Given the description of an element on the screen output the (x, y) to click on. 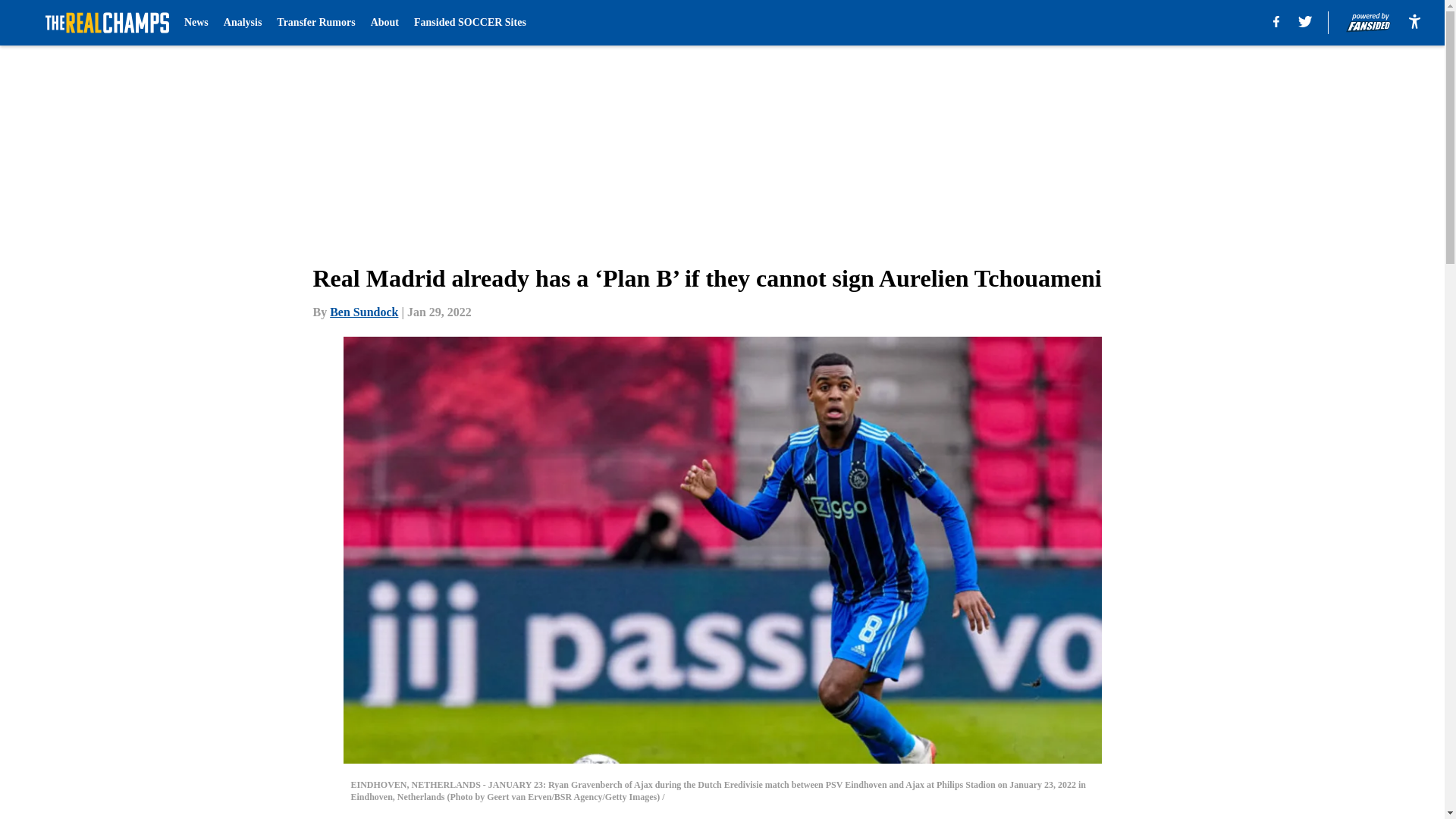
News (196, 22)
Fansided SOCCER Sites (469, 22)
Ben Sundock (363, 311)
Transfer Rumors (315, 22)
About (384, 22)
Analysis (243, 22)
